Given the description of an element on the screen output the (x, y) to click on. 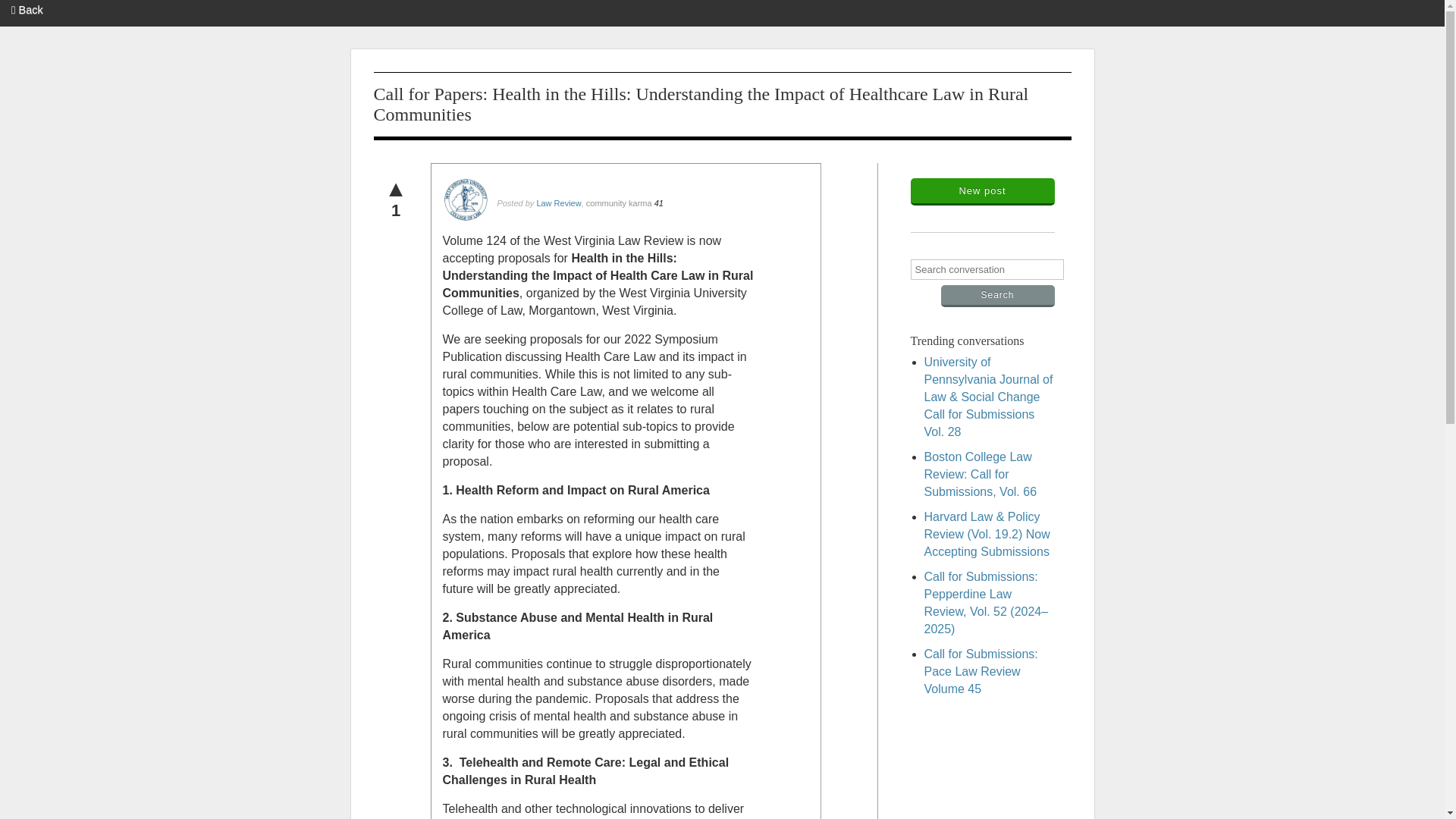
Law Review (557, 201)
Boston College Law Review: Call for Submissions, Vol. 66 (979, 473)
Search (997, 296)
vote up (395, 188)
Back (27, 9)
Search (997, 296)
community karma (619, 202)
New post (982, 191)
Call for Submissions: Pace Law Review Volume 45 (979, 671)
